Given the description of an element on the screen output the (x, y) to click on. 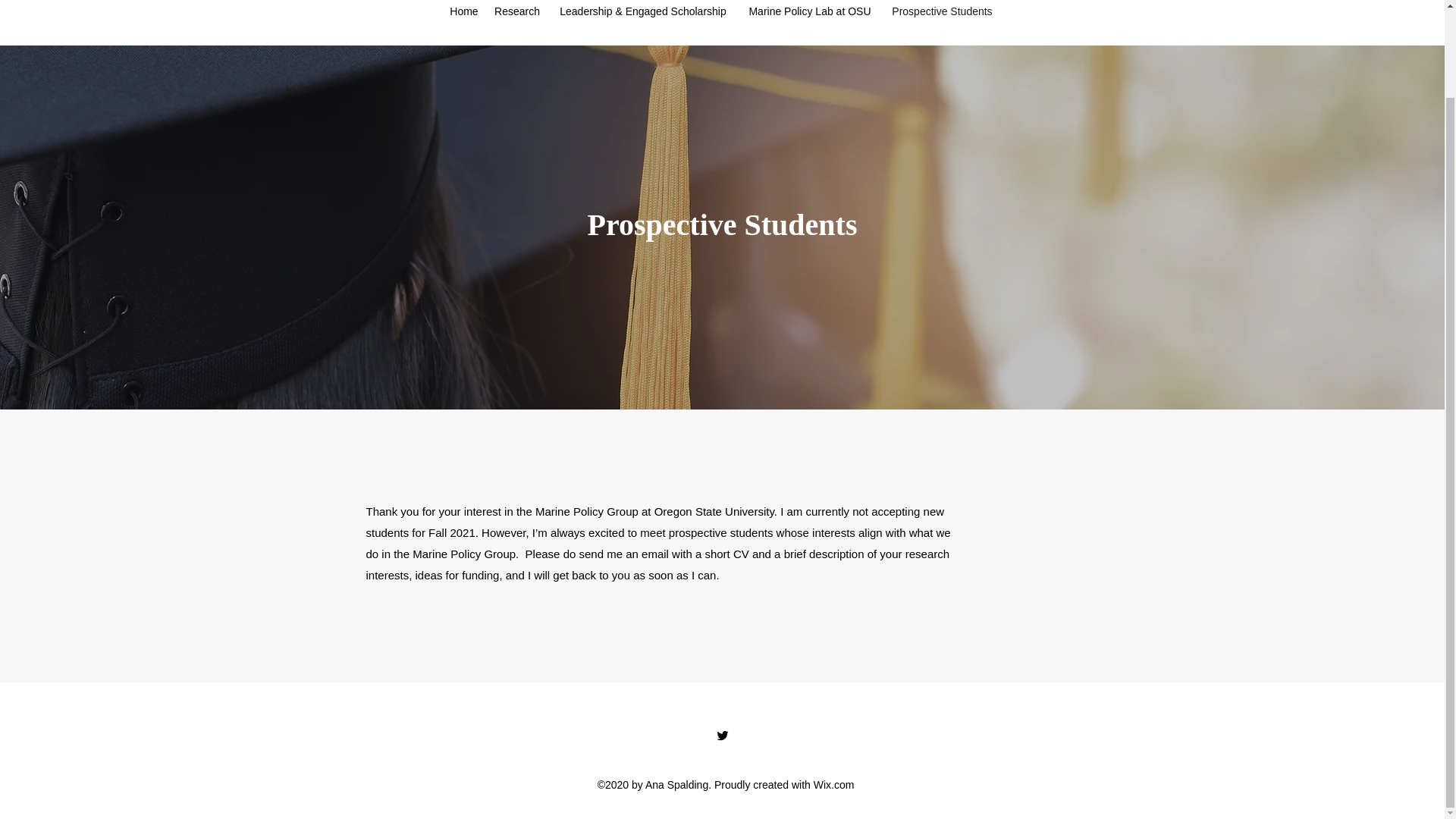
Prospective Students (941, 11)
Research (516, 11)
Home (463, 11)
Marine Policy Lab at OSU (809, 11)
